Given the description of an element on the screen output the (x, y) to click on. 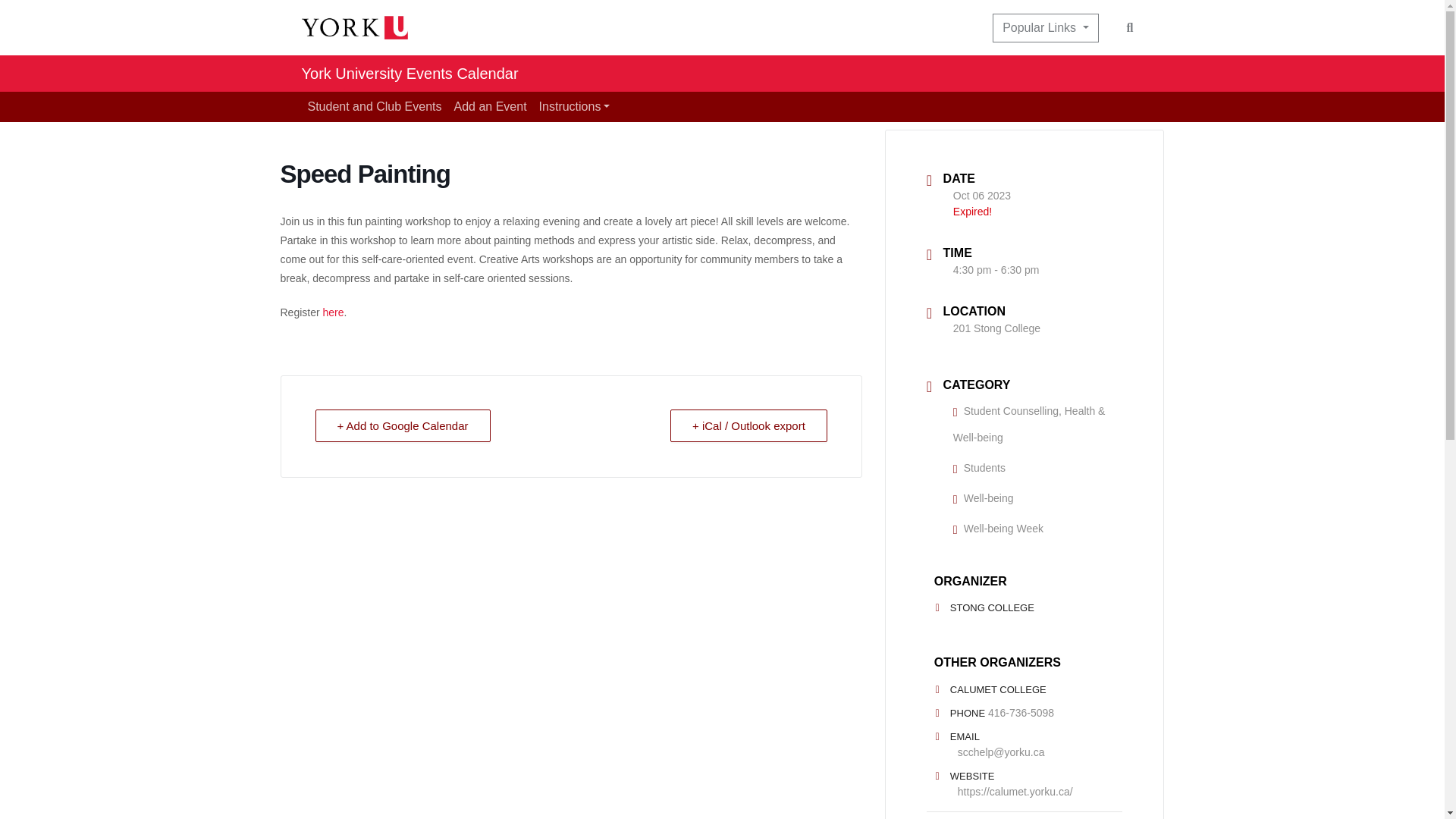
Student and Club Events (374, 106)
Popular Links (1044, 27)
Students (979, 467)
Search (1129, 27)
Instructions (573, 106)
Add an Event (490, 106)
Well-being Week (998, 528)
Well-being (983, 498)
York University Events Calendar (409, 73)
416-736-5098 (1021, 712)
